Given the description of an element on the screen output the (x, y) to click on. 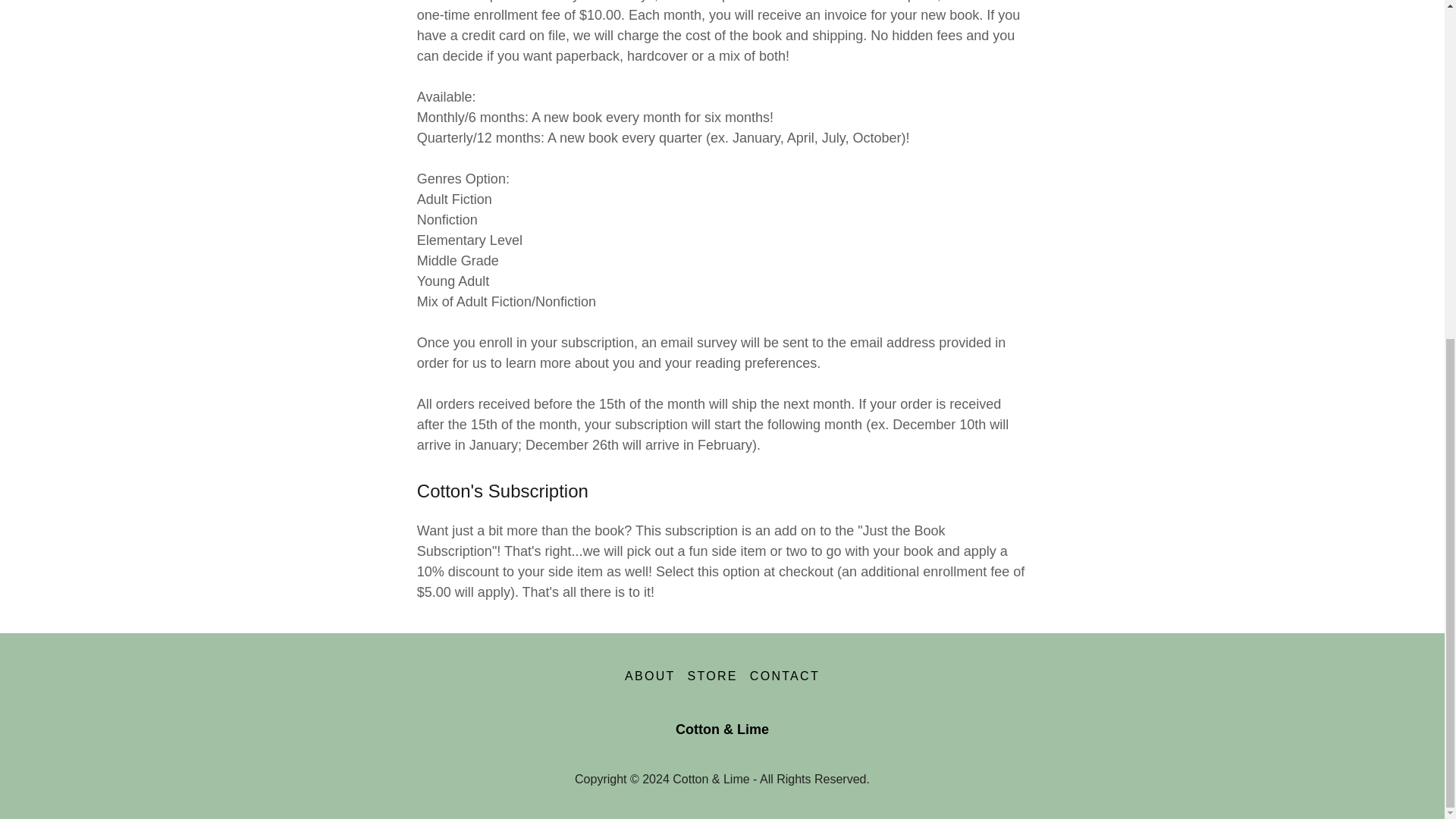
ABOUT (649, 676)
CONTACT (784, 676)
STORE (712, 676)
